Given the description of an element on the screen output the (x, y) to click on. 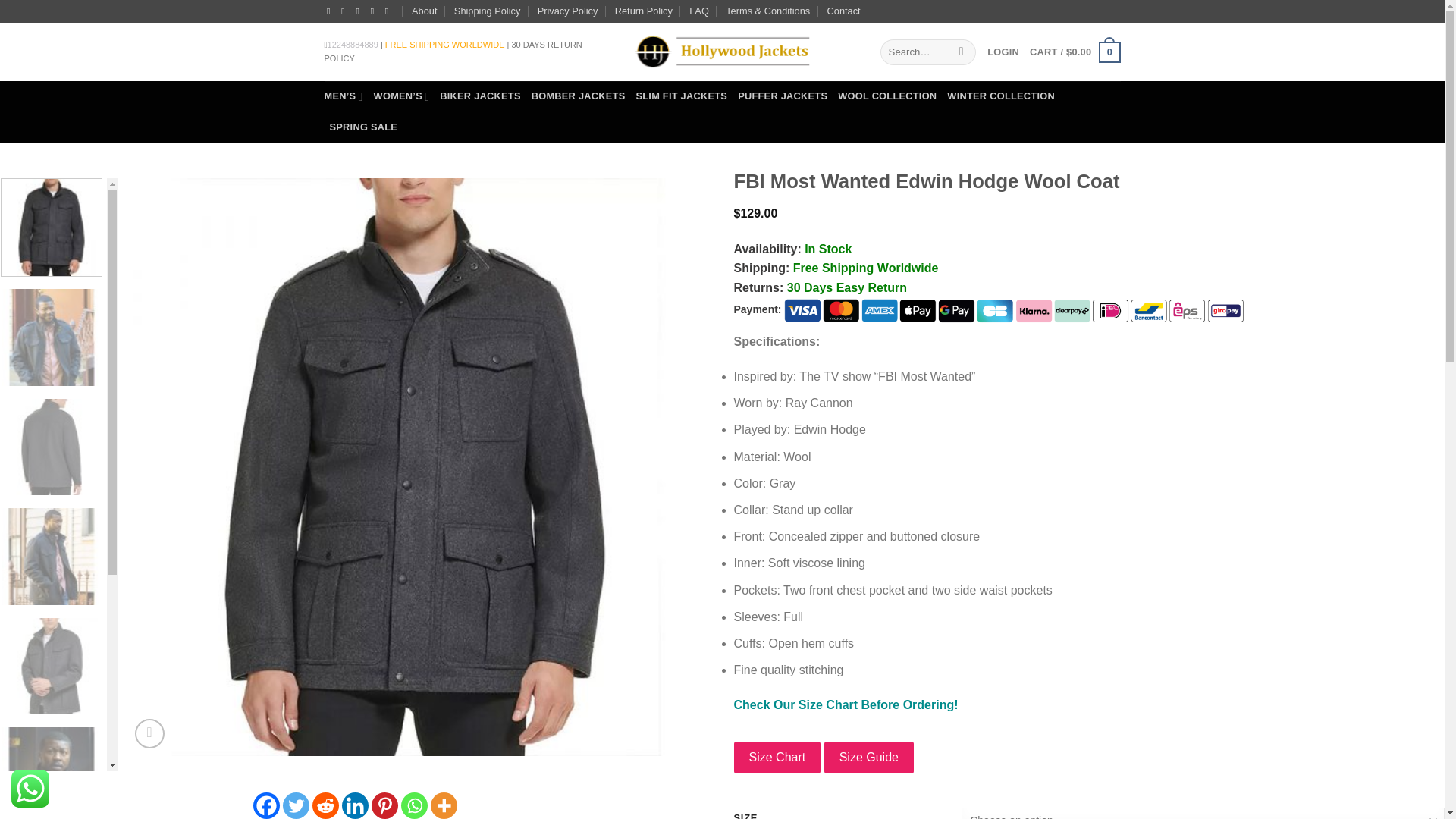
Pinterest (384, 805)
Privacy Policy (567, 11)
About (424, 11)
Search (961, 52)
Cart (1074, 52)
Facebook (266, 805)
Reddit (326, 805)
Contact (843, 11)
Twitter (295, 805)
12248884889 (352, 44)
Hollywood Jackets - Hollywood Jackets (721, 52)
Return Policy (643, 11)
Shipping Policy (487, 11)
Linkedin (355, 805)
